Given the description of an element on the screen output the (x, y) to click on. 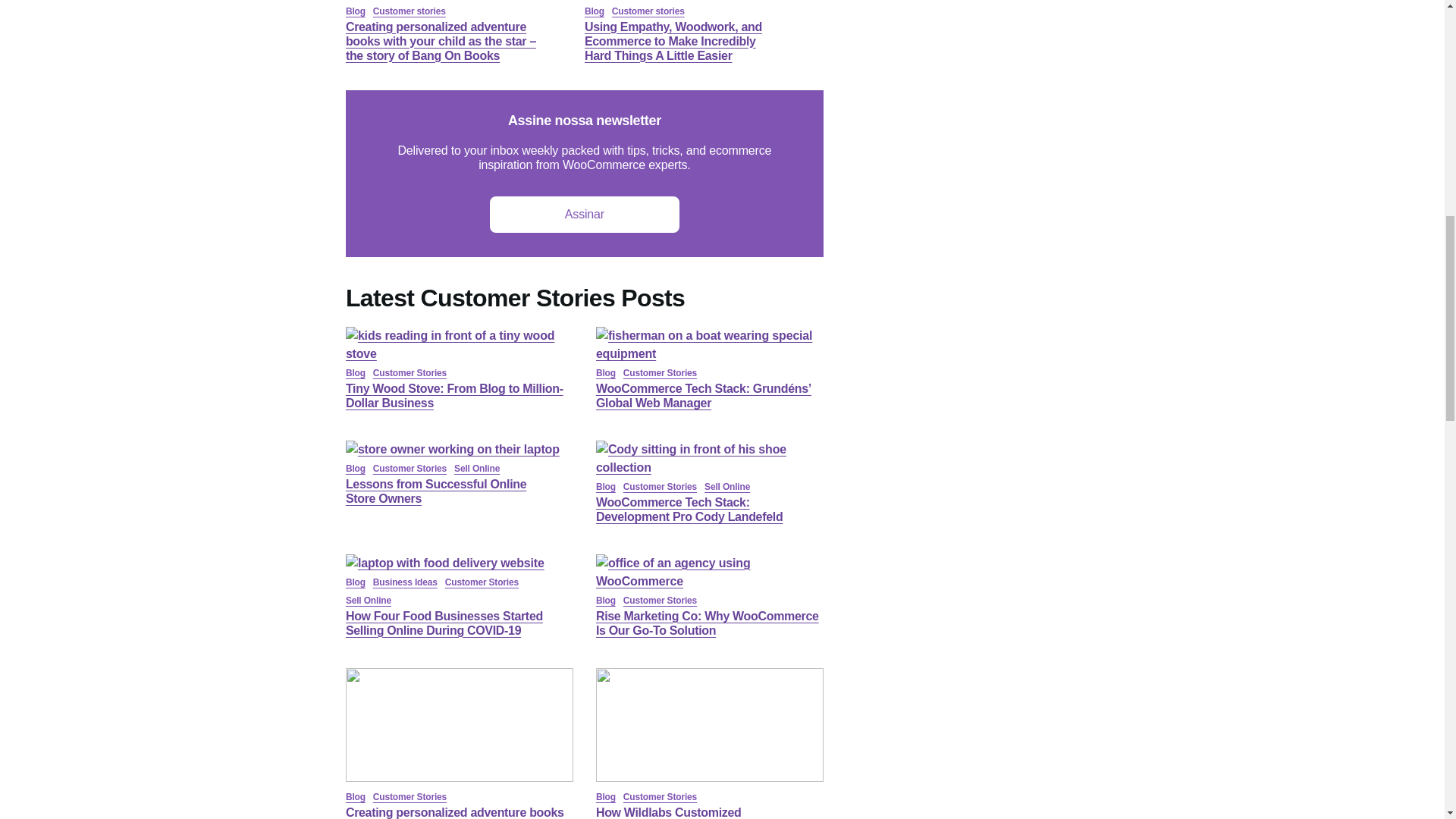
Blog (355, 372)
Assinar (584, 214)
Tiny Wood Stove: From Blog to Million-Dollar Business (459, 353)
Tiny Wood Stove: From Blog to Million-Dollar Business (454, 395)
Lessons from Successful Online Store Owners (452, 449)
WooCommerce Tech Stack: Development Pro Cody Landefeld (709, 467)
Blog (594, 10)
Customer stories (408, 10)
